Given the description of an element on the screen output the (x, y) to click on. 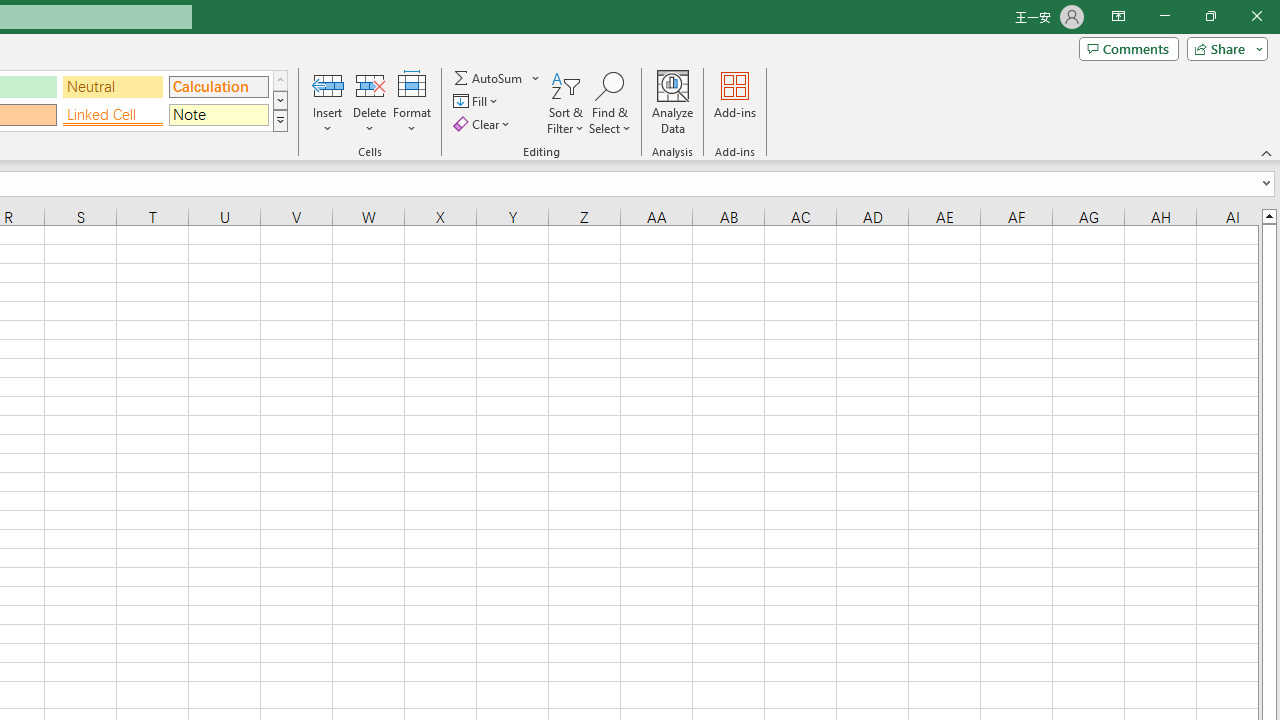
Calculation (218, 86)
Linked Cell (113, 114)
Delete (369, 102)
Note (218, 114)
AutoSum (497, 78)
Cell Styles (280, 120)
Format (411, 102)
Insert Cells (328, 84)
